Given the description of an element on the screen output the (x, y) to click on. 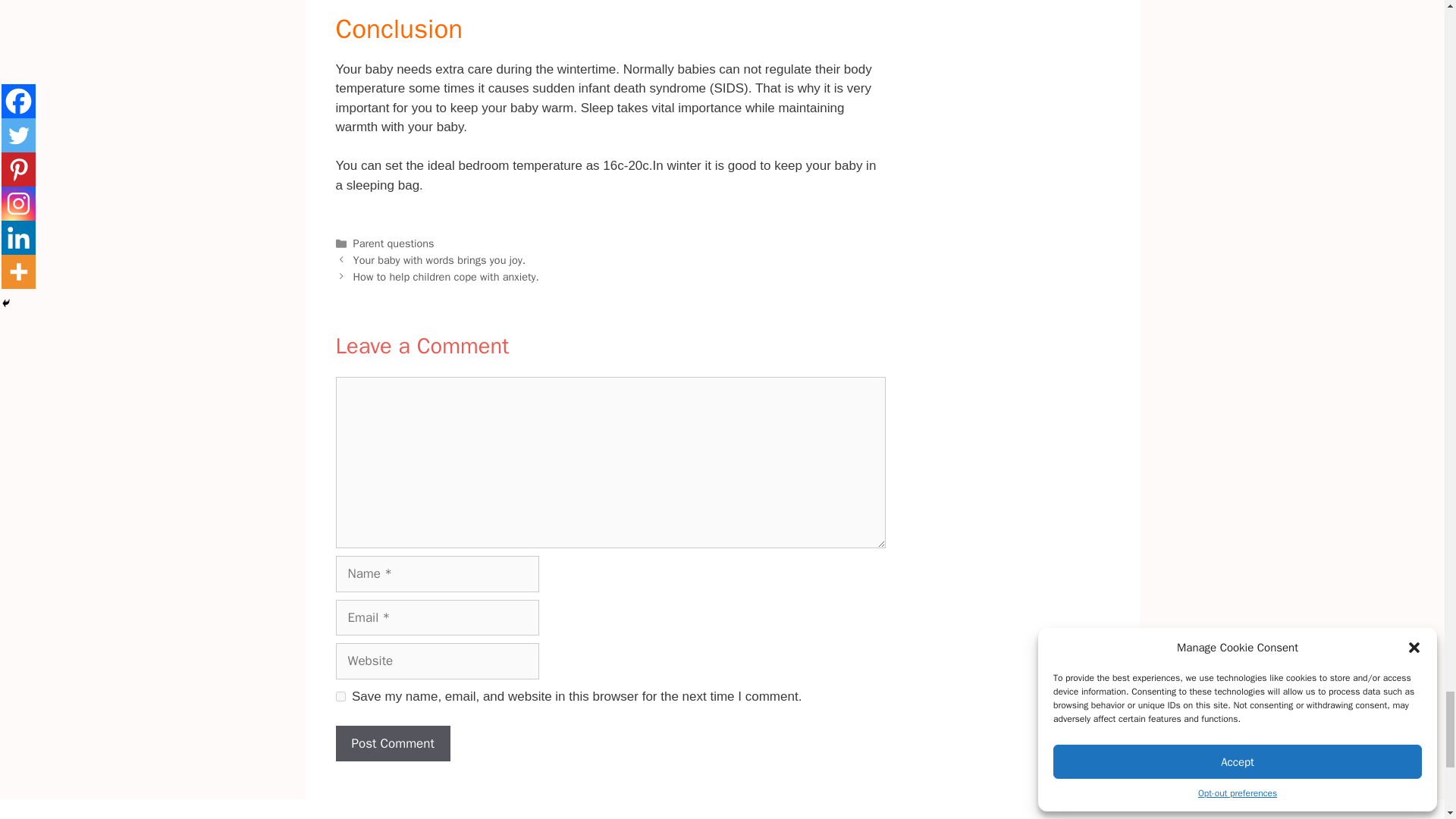
yes (339, 696)
Post Comment (391, 743)
